Given the description of an element on the screen output the (x, y) to click on. 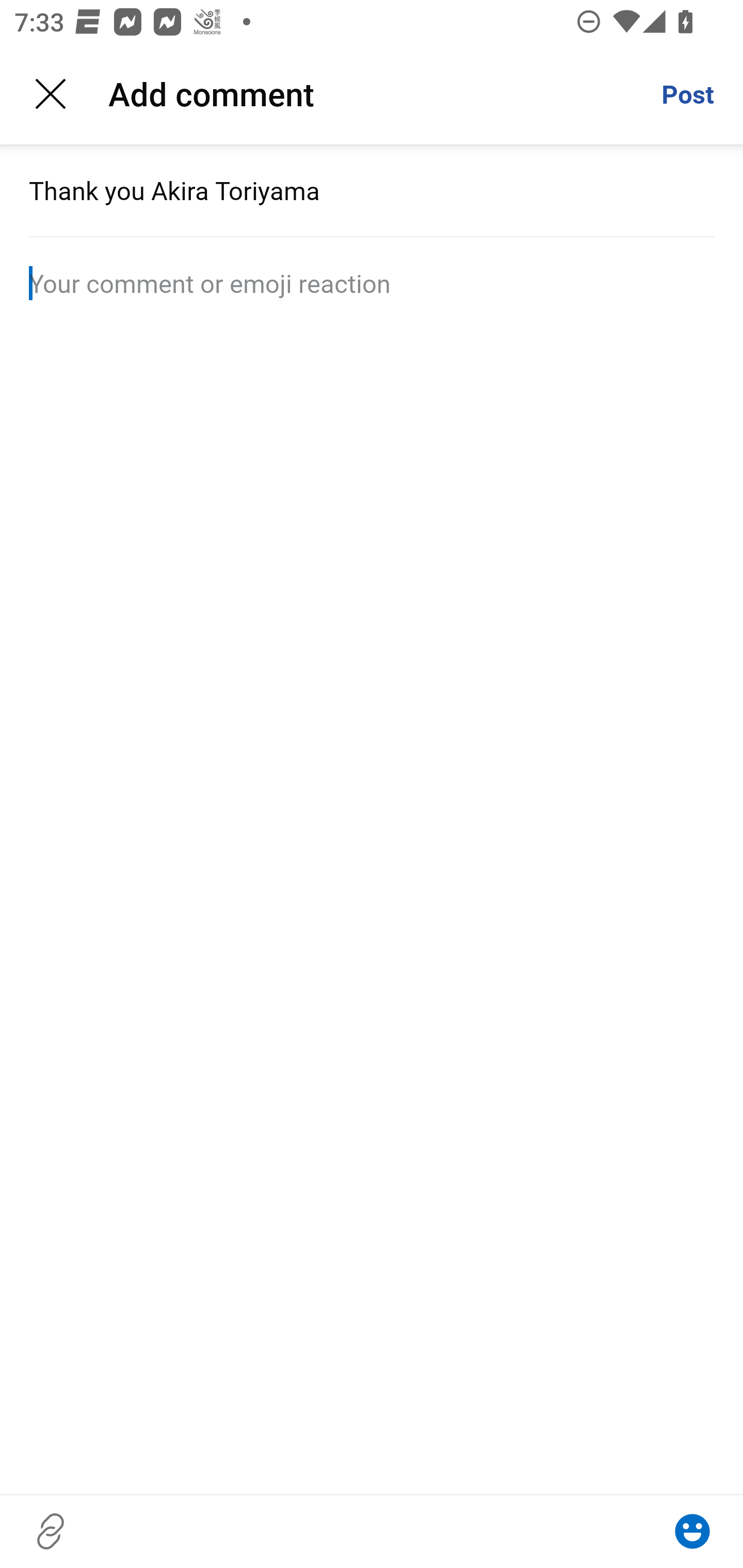
Close (50, 93)
Post (687, 94)
Your comment or emoji reaction (371, 282)
Insert a link (50, 1530)
Toggle emote keyboard (692, 1530)
